Given the description of an element on the screen output the (x, y) to click on. 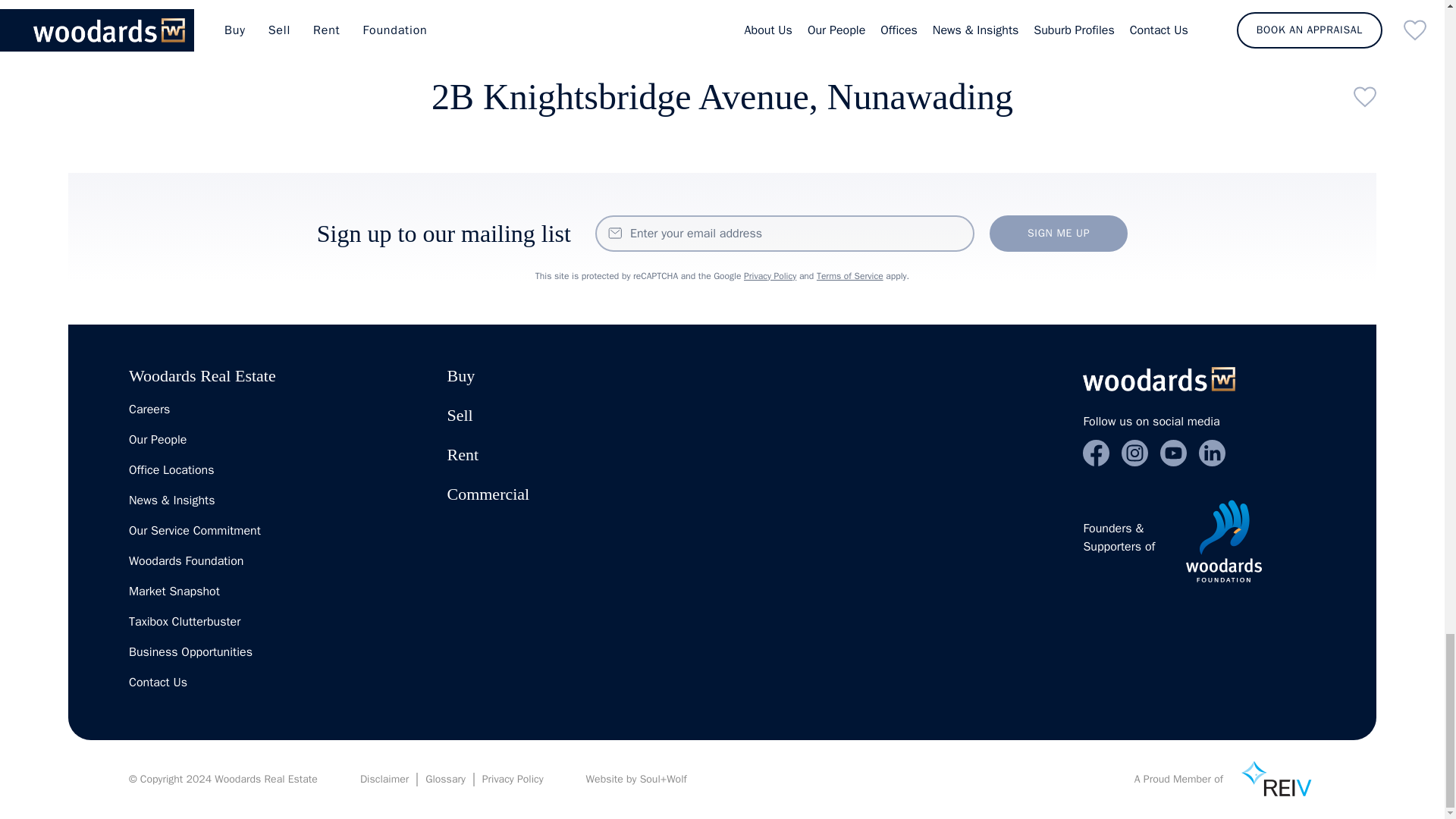
Facebook (1096, 452)
YouTube (1173, 452)
LinkedIn (1211, 452)
Instagram (1134, 452)
